Given the description of an element on the screen output the (x, y) to click on. 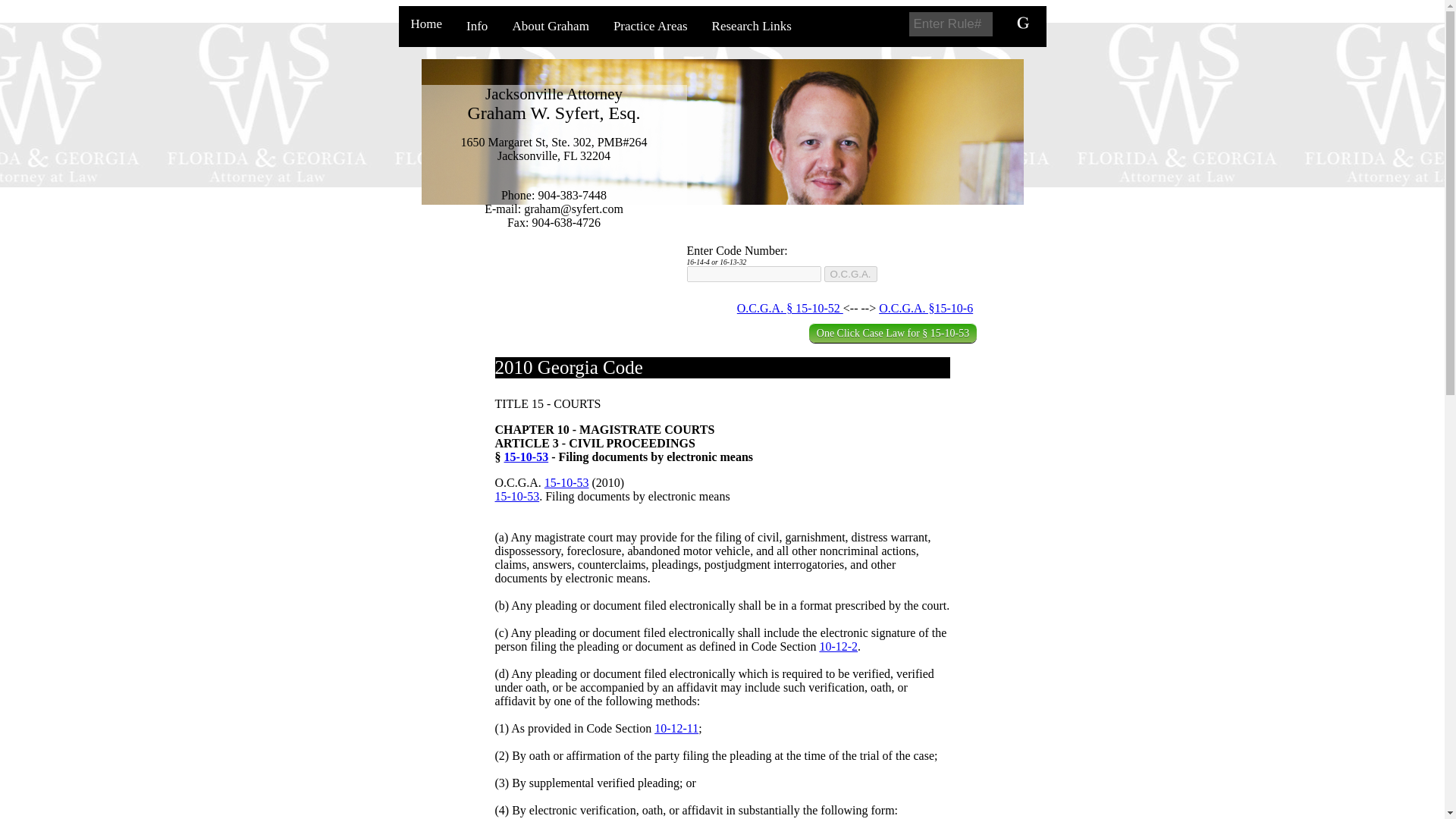
Practice Areas (650, 25)
O.C.G.A. (850, 273)
15-10-53 (525, 456)
10-12-2 (837, 645)
15-10-53 (566, 481)
Home (426, 23)
10-12-11 (675, 727)
Research Links (751, 25)
About Graham (550, 25)
15-10-53 (516, 495)
